Given the description of an element on the screen output the (x, y) to click on. 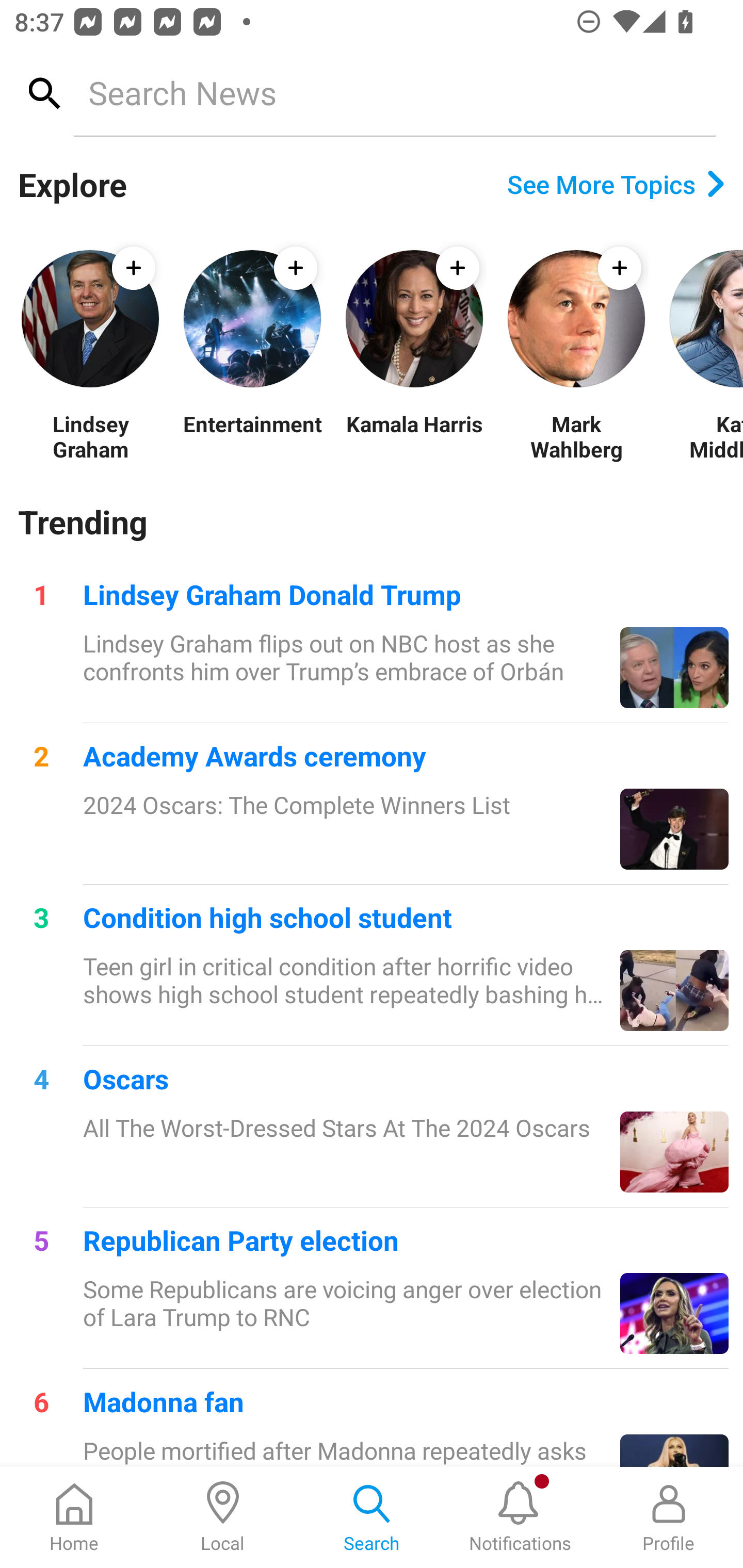
Search News (394, 92)
See More Topics (616, 183)
Lindsey Graham (89, 436)
Entertainment (251, 436)
Kamala Harris (413, 436)
Mark Wahlberg (575, 436)
Home (74, 1517)
Local (222, 1517)
Notifications, New notification Notifications (519, 1517)
Profile (668, 1517)
